Given the description of an element on the screen output the (x, y) to click on. 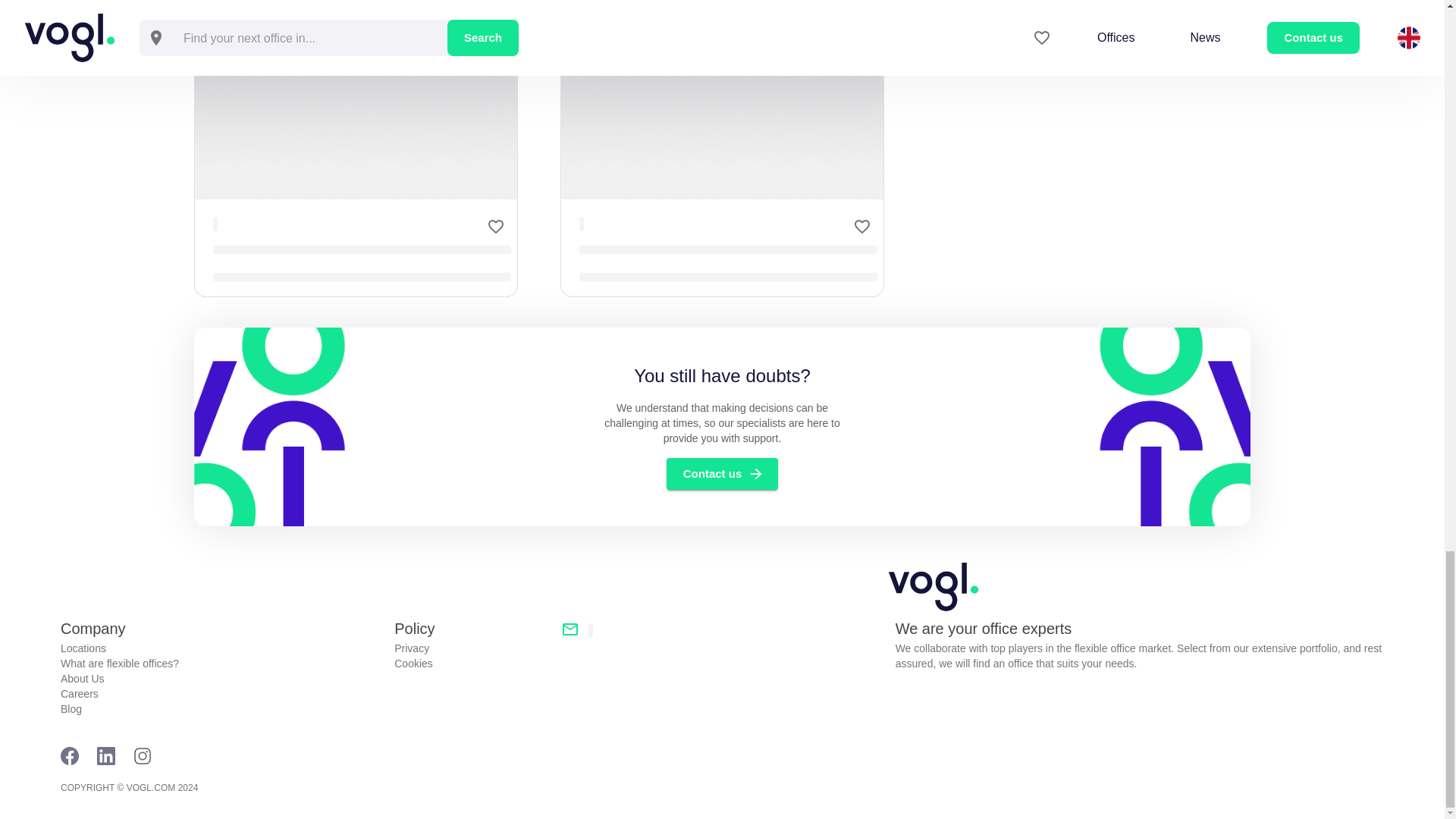
Privacy (471, 648)
Careers (221, 693)
What are flexible offices? (221, 663)
Blog (221, 708)
Contact us (722, 473)
Locations (221, 648)
About Us (221, 678)
Cookies (471, 663)
